Given the description of an element on the screen output the (x, y) to click on. 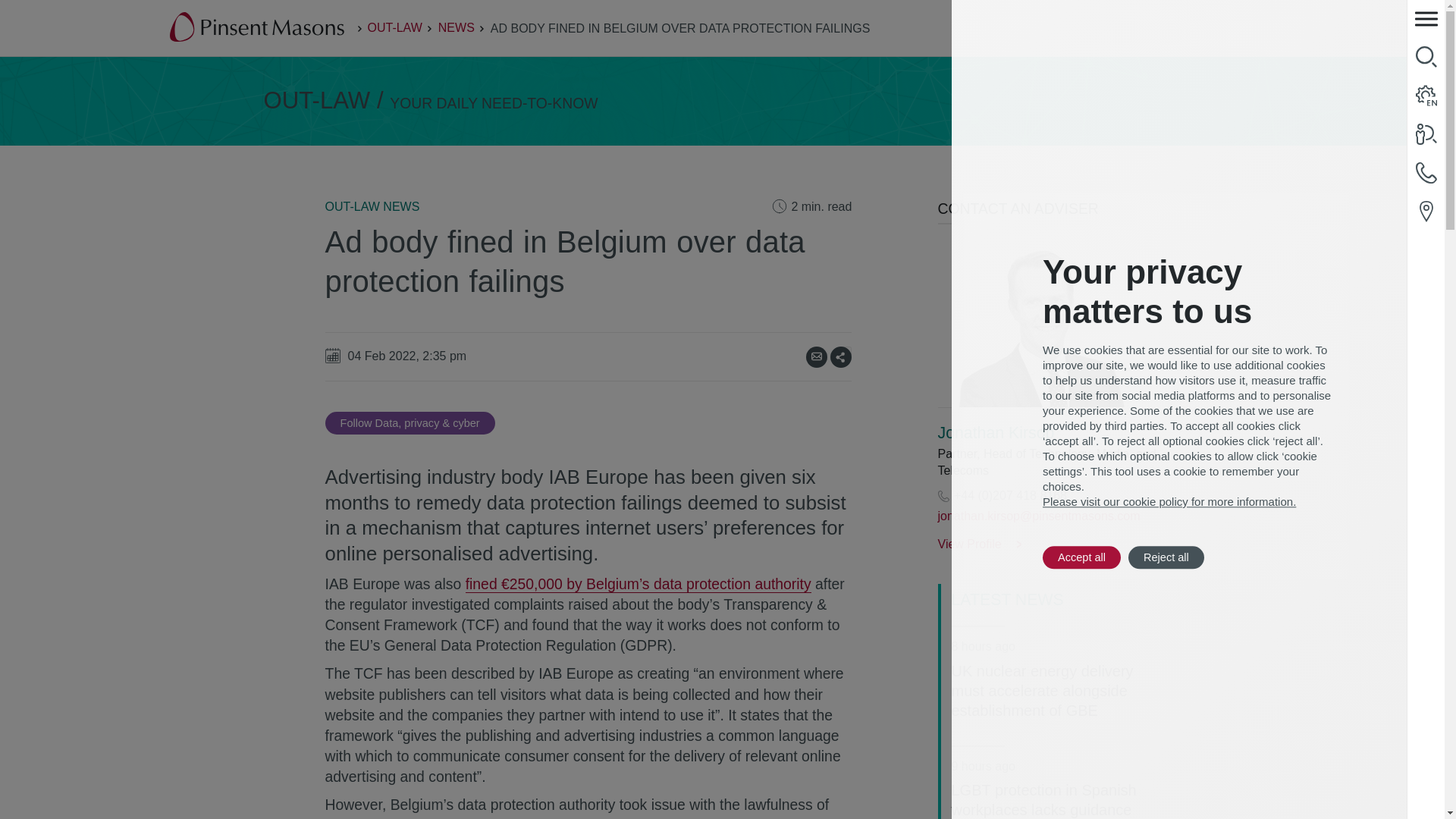
Save in your preference settings (409, 422)
Email (816, 356)
Pinsent Masons (257, 28)
NEWS (456, 27)
on (846, 351)
OUT-LAW (394, 27)
